Given the description of an element on the screen output the (x, y) to click on. 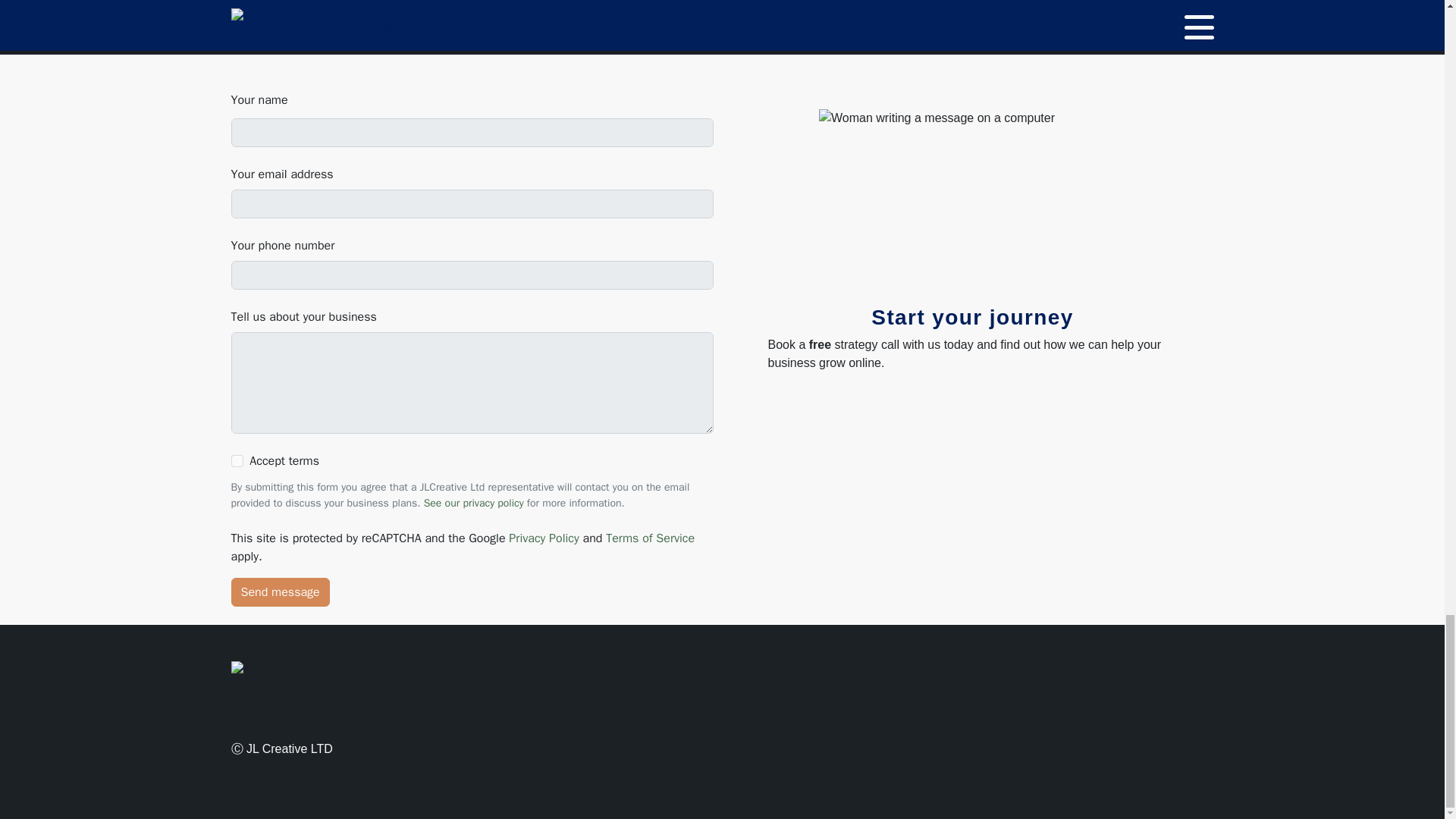
Send message (279, 592)
See our privacy policy (473, 502)
Terms of Service (649, 538)
Privacy Policy (543, 538)
Send message (279, 592)
1 (236, 460)
